Given the description of an element on the screen output the (x, y) to click on. 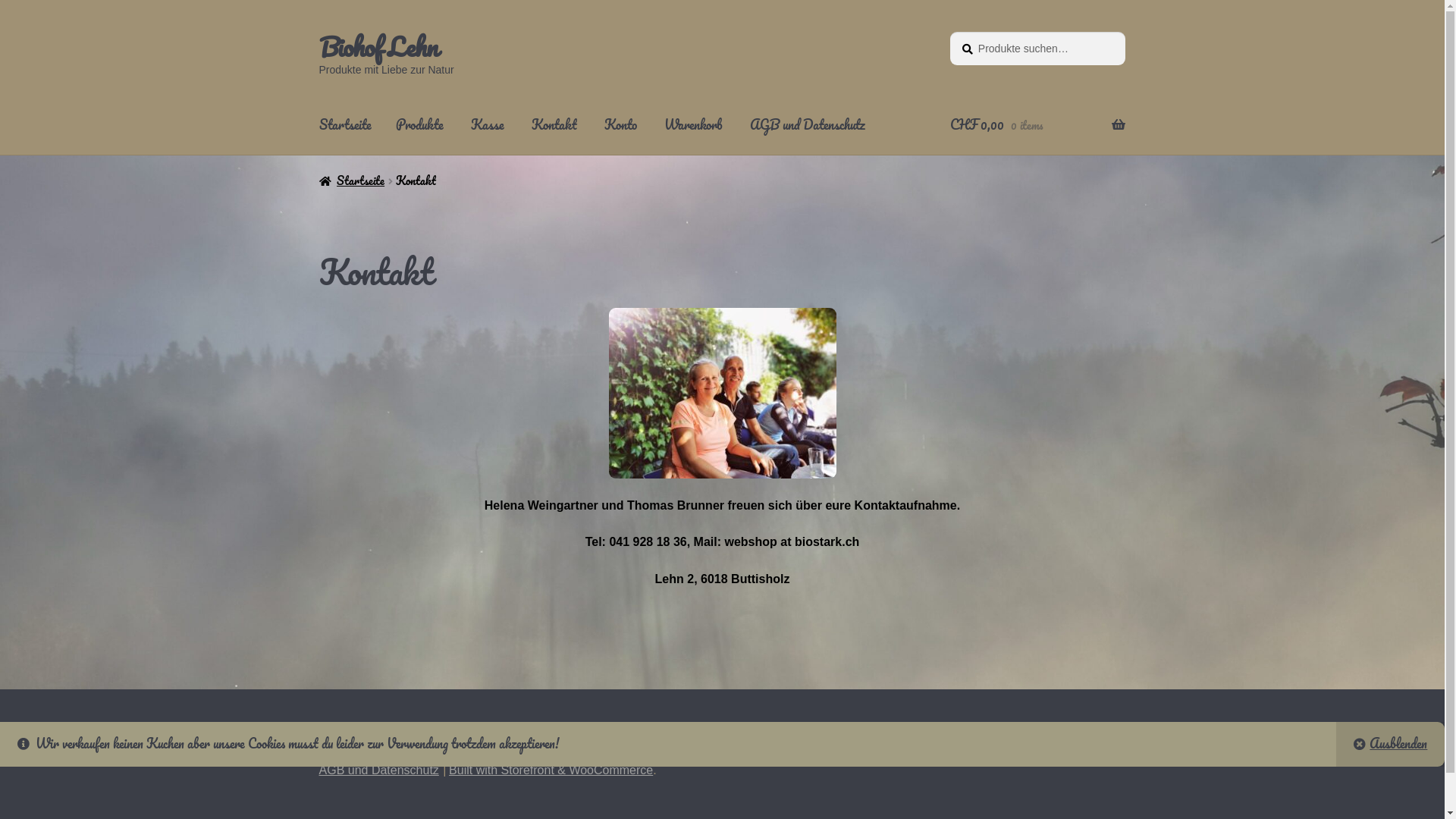
Biohof Lehn Element type: text (378, 46)
AGB und Datenschutz Element type: text (379, 769)
Suche Element type: text (949, 31)
Startseite Element type: text (352, 180)
Konto Element type: text (620, 124)
Startseite Element type: text (345, 124)
Skip to navigation Element type: text (318, 31)
Produkte Element type: text (419, 124)
AGB und Datenschutz Element type: text (807, 124)
Ausblenden Element type: text (1390, 743)
Built with Storefront & WooCommerce Element type: text (550, 769)
CHF 0,00 0 items Element type: text (1037, 124)
Kasse Element type: text (487, 124)
Kontakt Element type: text (554, 124)
Warenkorb Element type: text (693, 124)
